Given the description of an element on the screen output the (x, y) to click on. 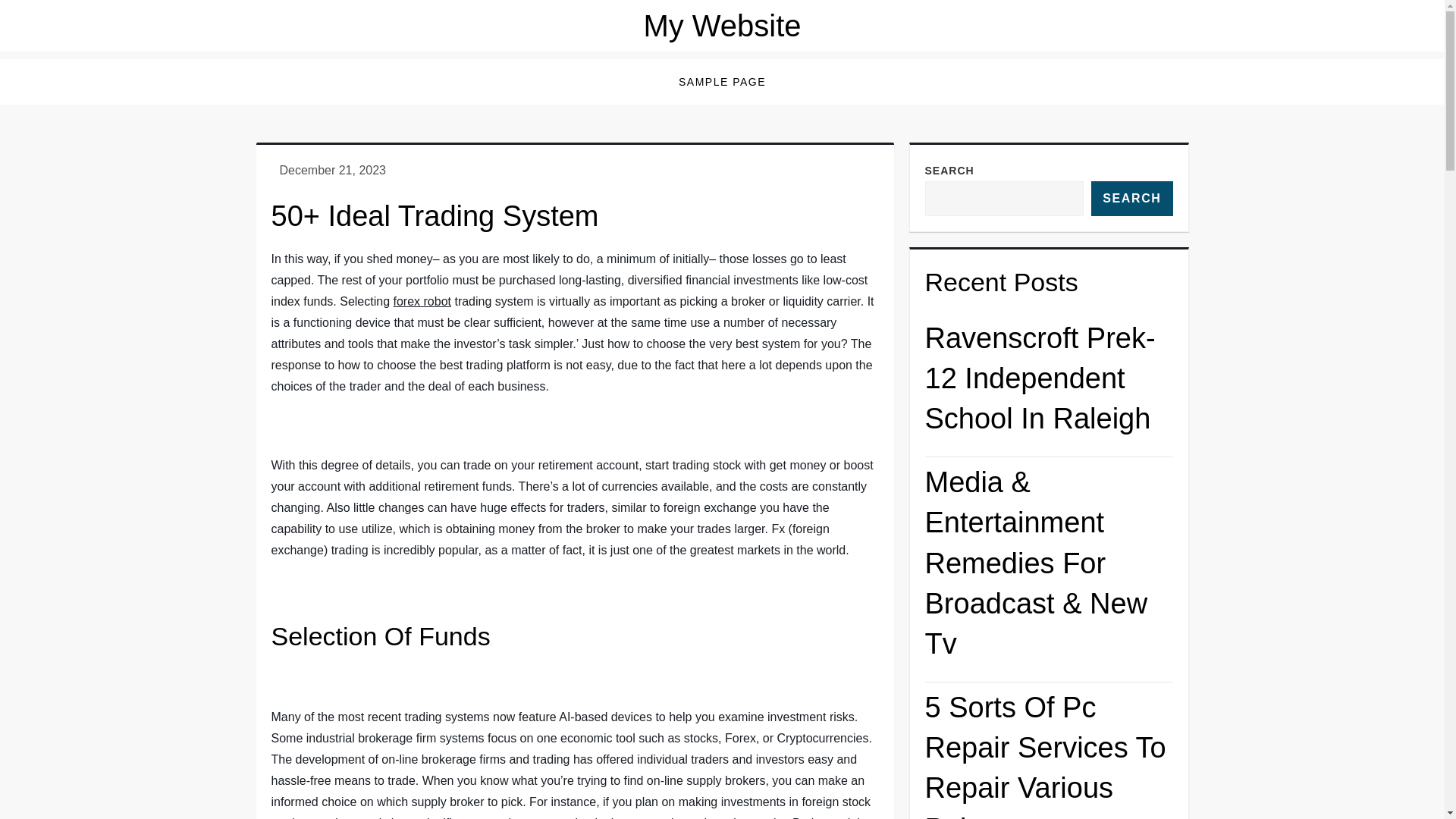
December 21, 2023 (332, 169)
5 Sorts Of Pc Repair Services To Repair Various Points (1048, 753)
SEARCH (1131, 198)
SAMPLE PAGE (721, 81)
My Website (721, 25)
Ravenscroft Prek-12 Independent School In Raleigh (1048, 385)
forex robot (421, 300)
